Given the description of an element on the screen output the (x, y) to click on. 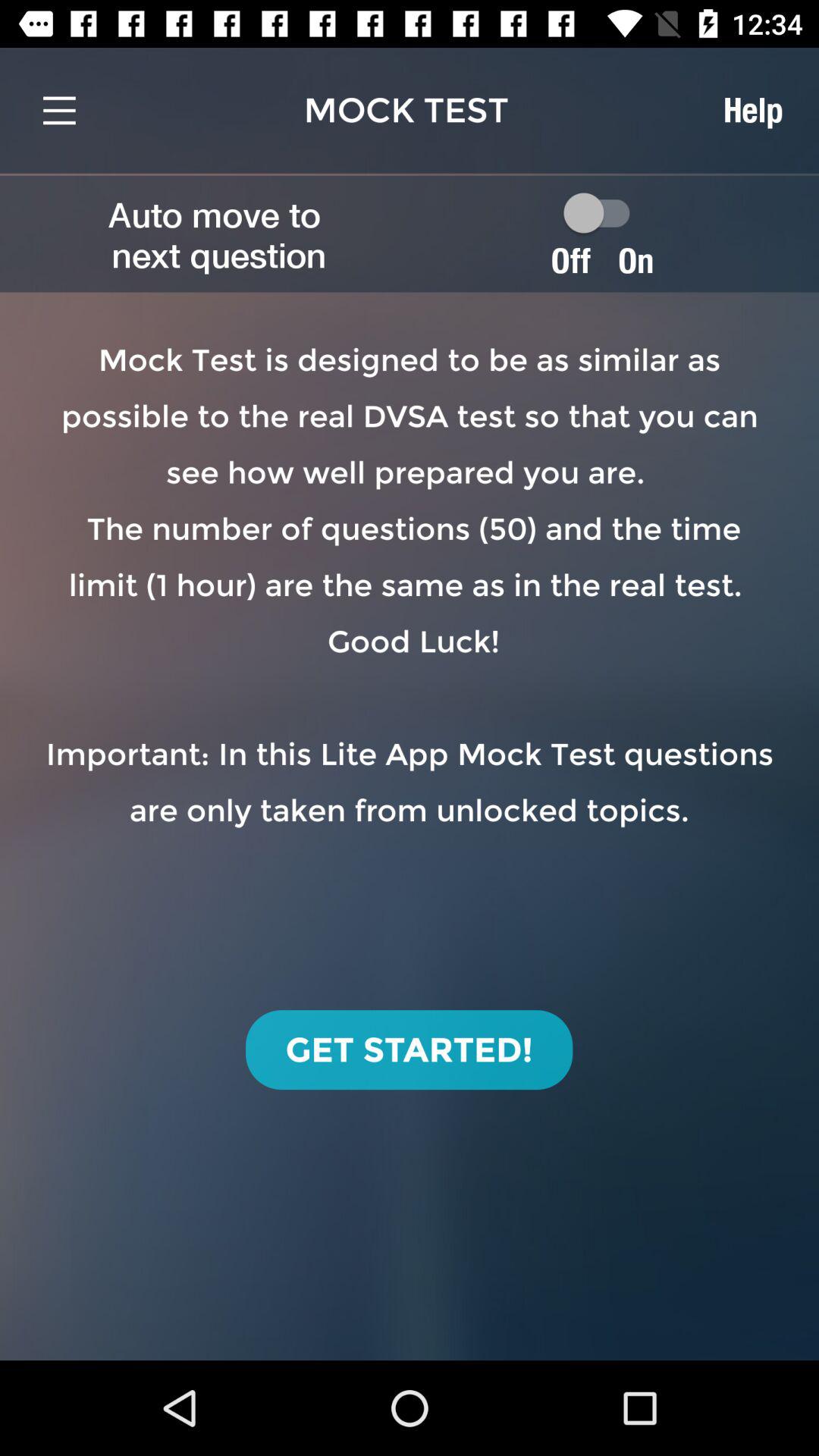
open icon next to mock test item (752, 110)
